Given the description of an element on the screen output the (x, y) to click on. 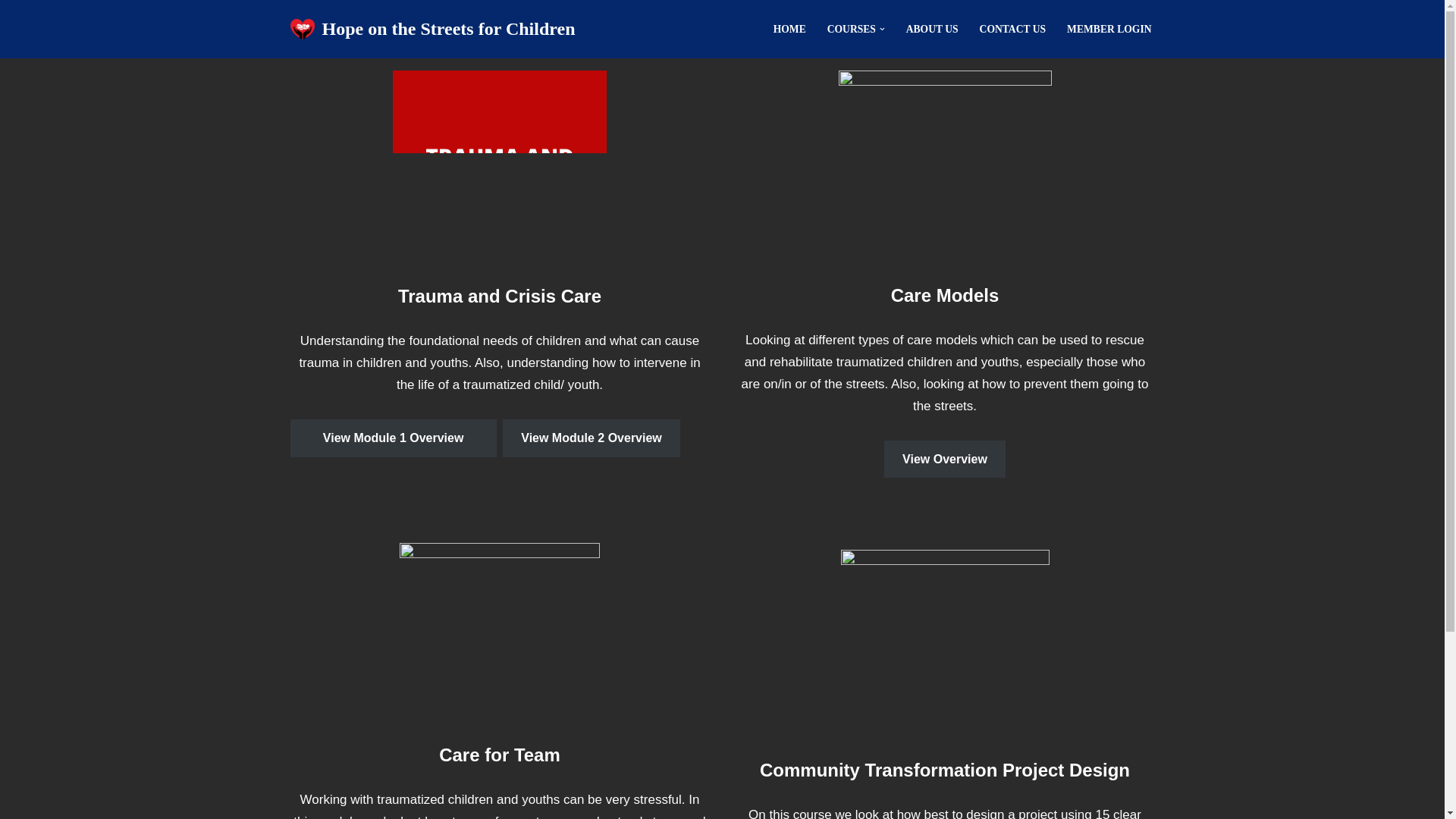
MEMBER LOGIN (1109, 28)
COURSES (851, 28)
View Module 1 Overview (392, 438)
HOME (789, 28)
View Module 2 Overview (590, 438)
Hope on the Streets for Children (432, 29)
CONTACT US (1012, 28)
ABOUT US (931, 28)
View Overview (944, 459)
Skip to content (11, 31)
